Given the description of an element on the screen output the (x, y) to click on. 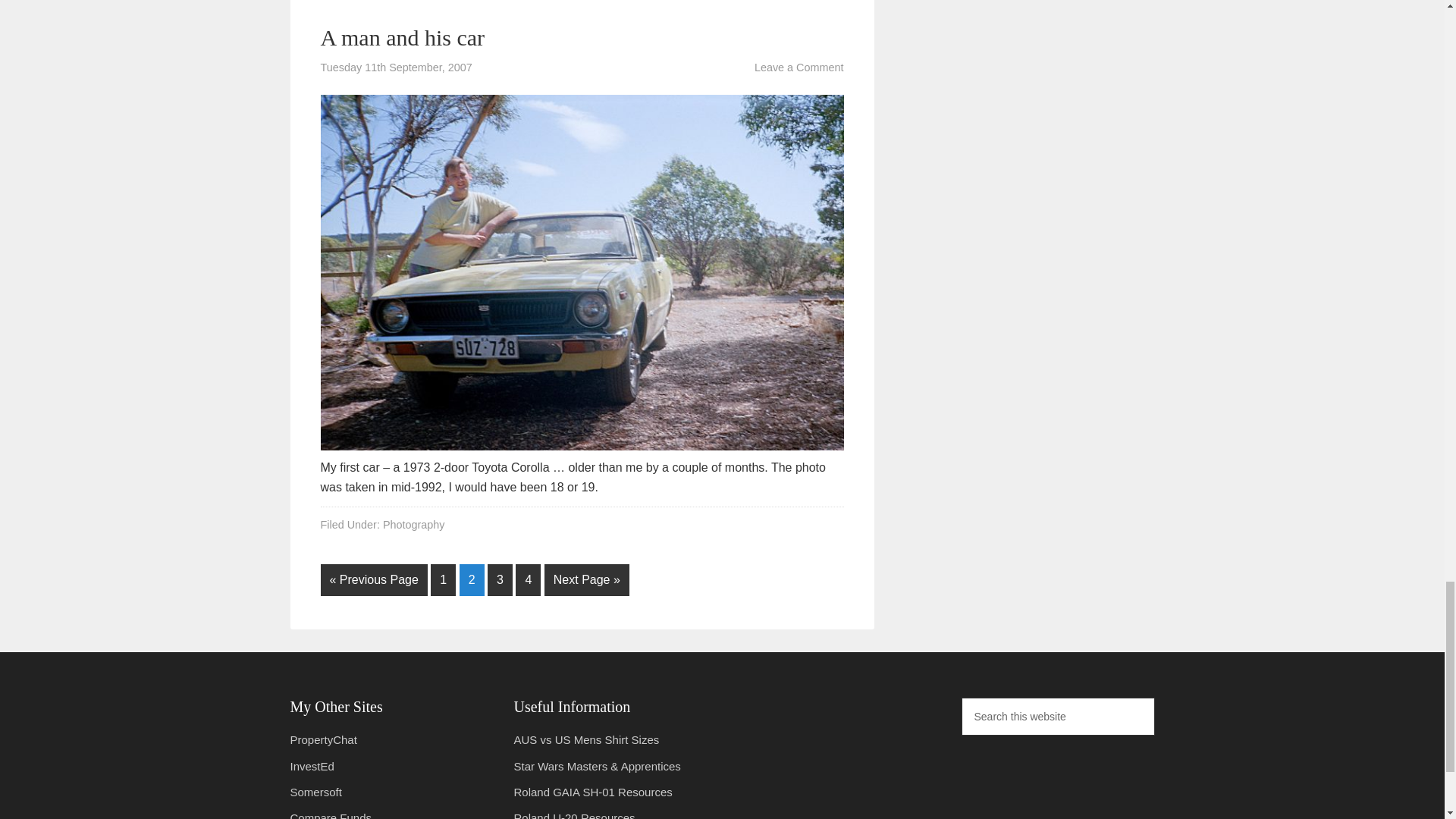
Analysis of Tweets by Australian MPs (322, 739)
Investor Education (311, 766)
Compare Managed Funds and ETFs (330, 815)
